Given the description of an element on the screen output the (x, y) to click on. 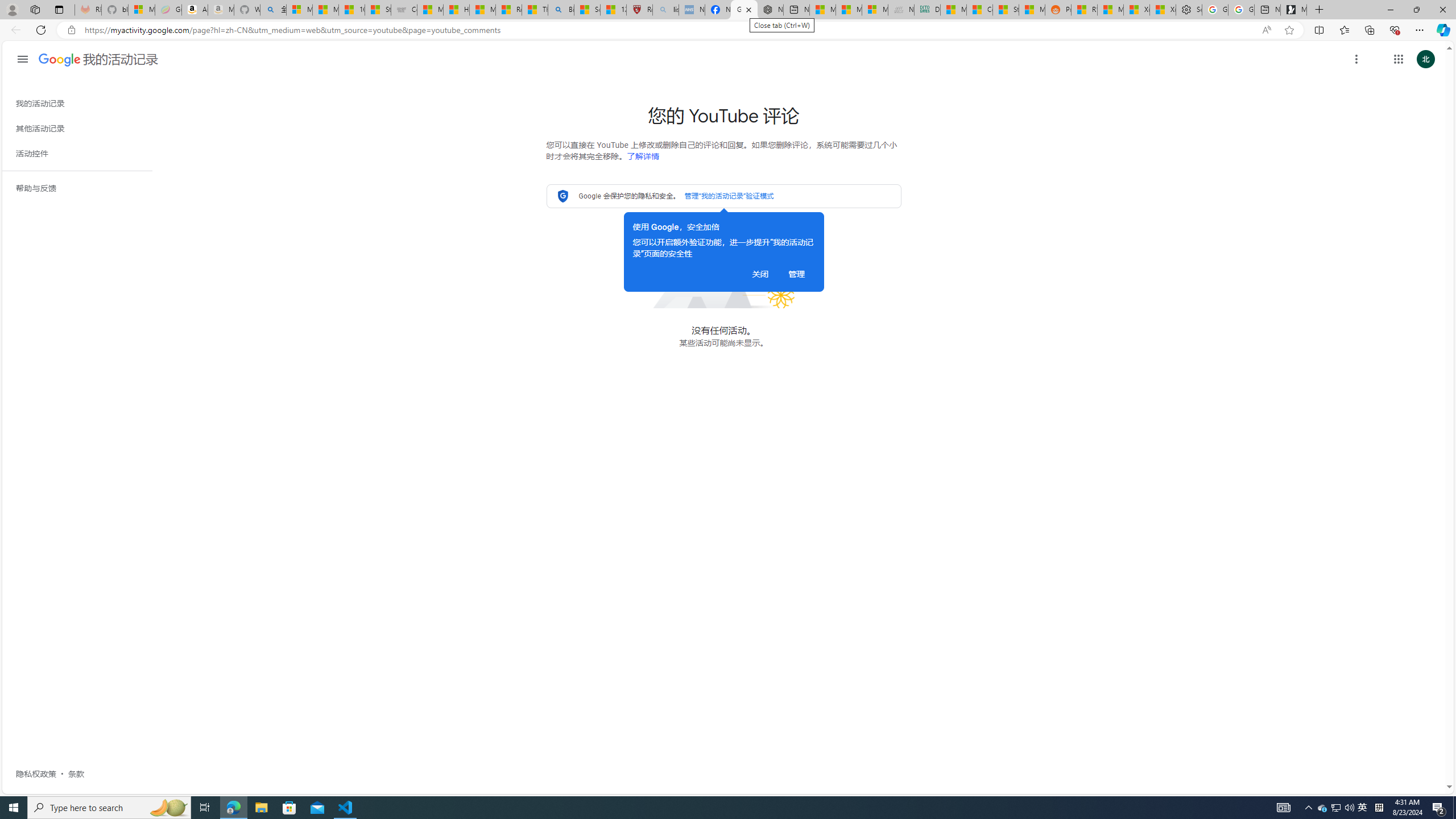
MSN (1031, 9)
Class: Xviznc NMm5M (1355, 59)
How I Got Rid of Microsoft Edge's Unnecessary Features (456, 9)
Microsoft Start Gaming (1293, 9)
DITOGAMES AG Imprint (927, 9)
Stocks - MSN (1005, 9)
